Given the description of an element on the screen output the (x, y) to click on. 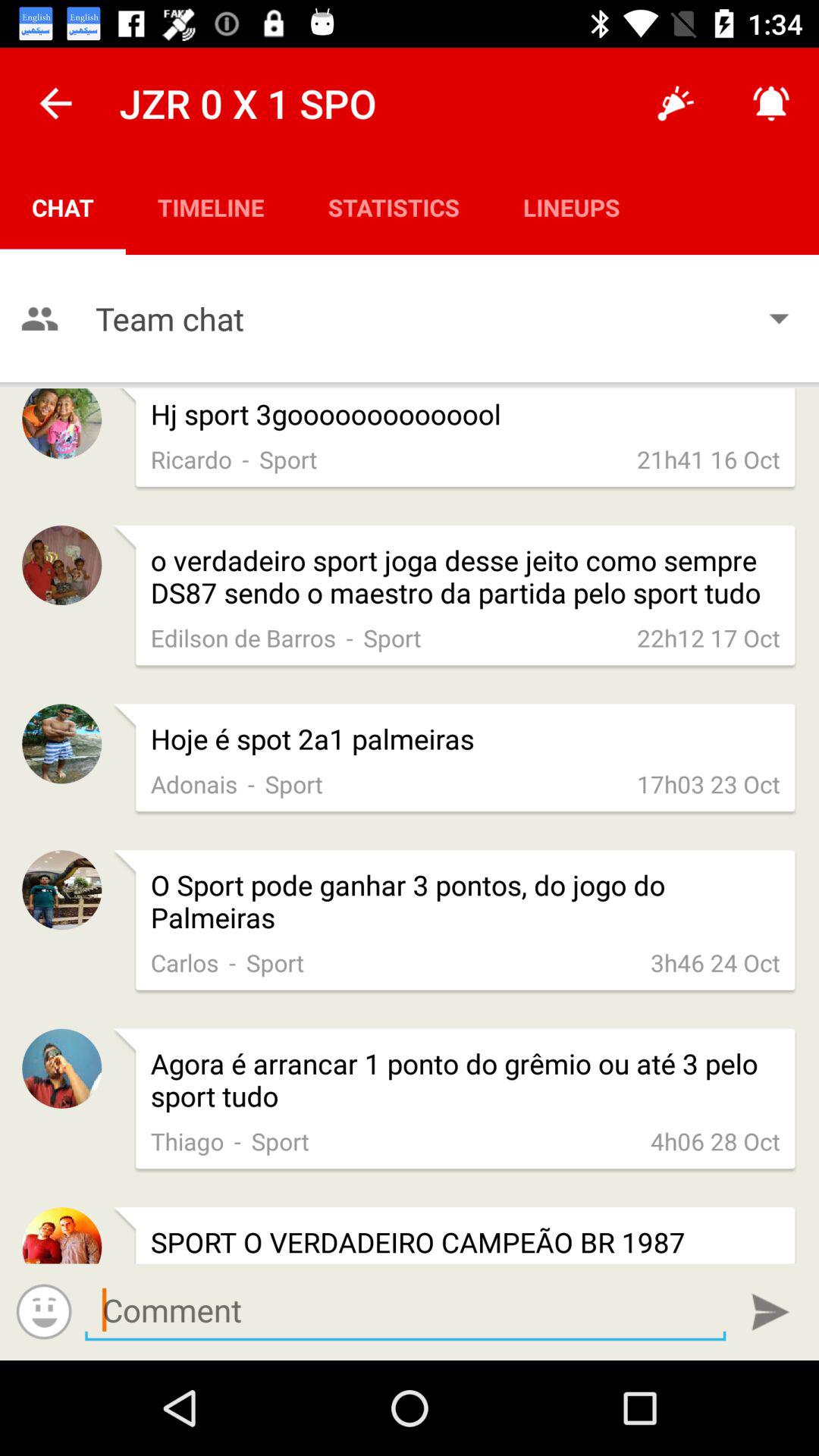
click the icon next to the jzr 0 x item (55, 103)
